Given the description of an element on the screen output the (x, y) to click on. 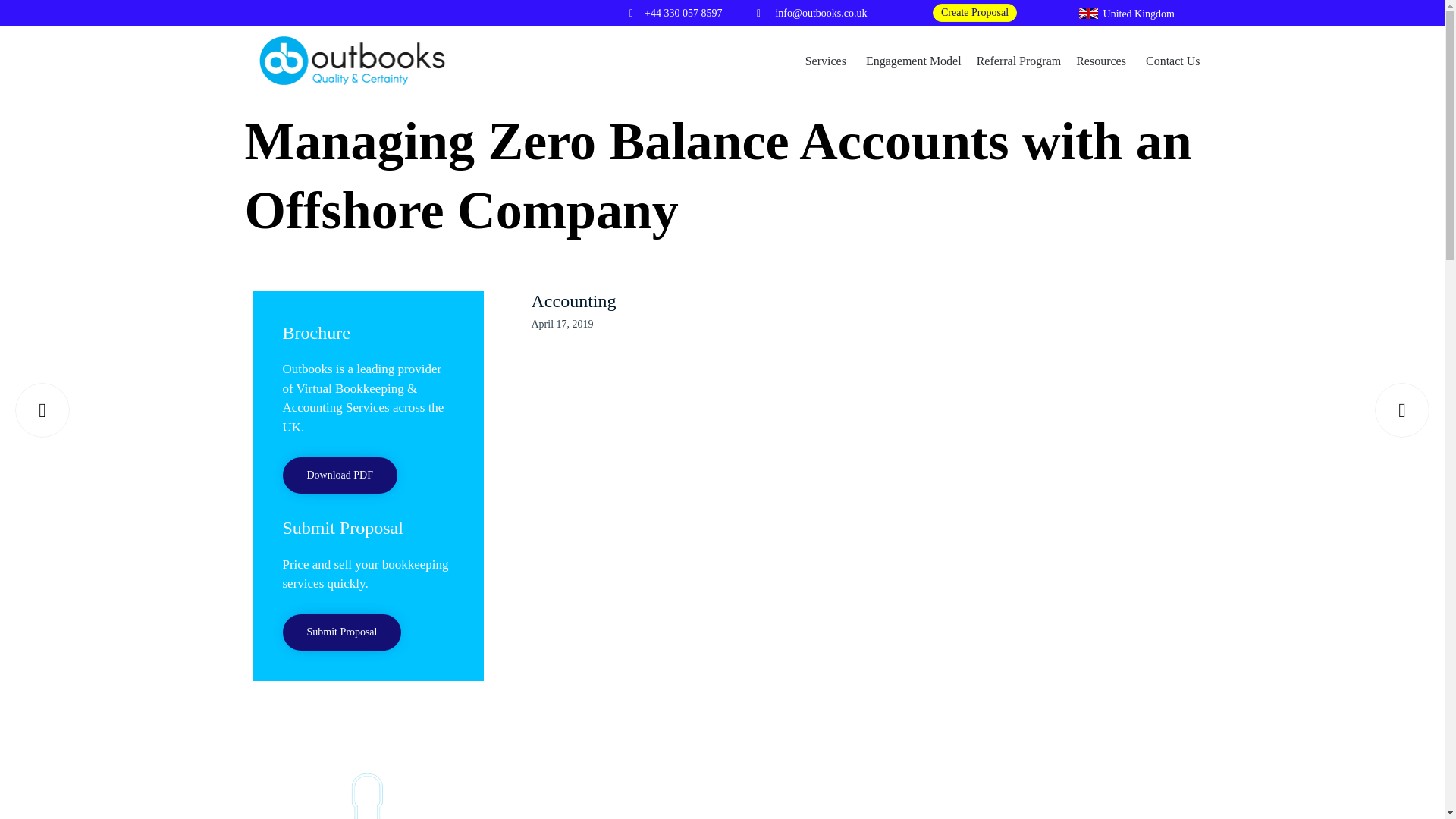
Create Proposal (974, 13)
Services (828, 59)
Accounting (573, 301)
Contact Us (1173, 59)
Engagement Model (914, 59)
Referral Program (1018, 59)
Resources (1103, 59)
Capturee2e2e2e-removebg-preview (367, 787)
